Given the description of an element on the screen output the (x, y) to click on. 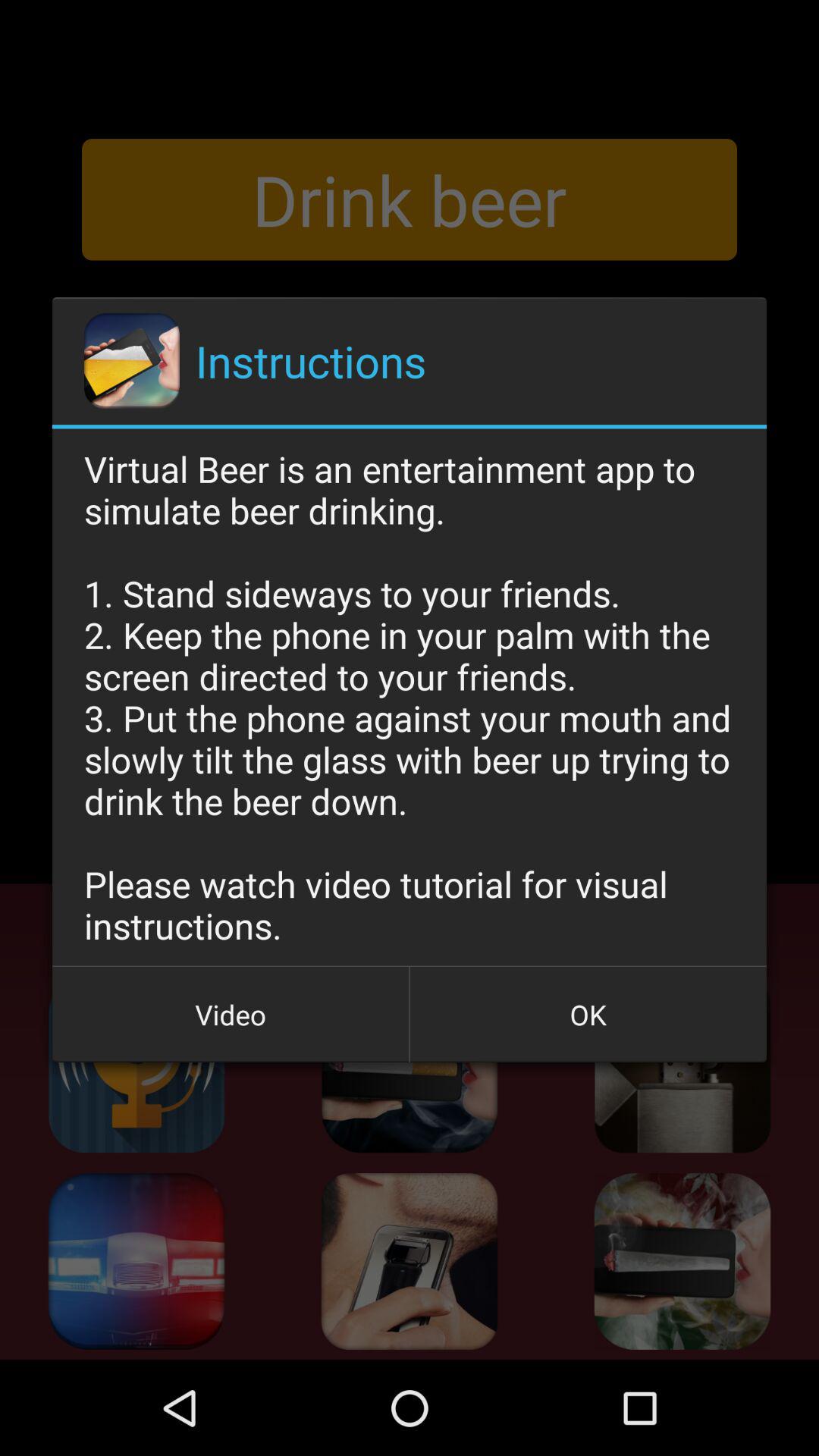
tap the icon below virtual beer is item (588, 1014)
